Given the description of an element on the screen output the (x, y) to click on. 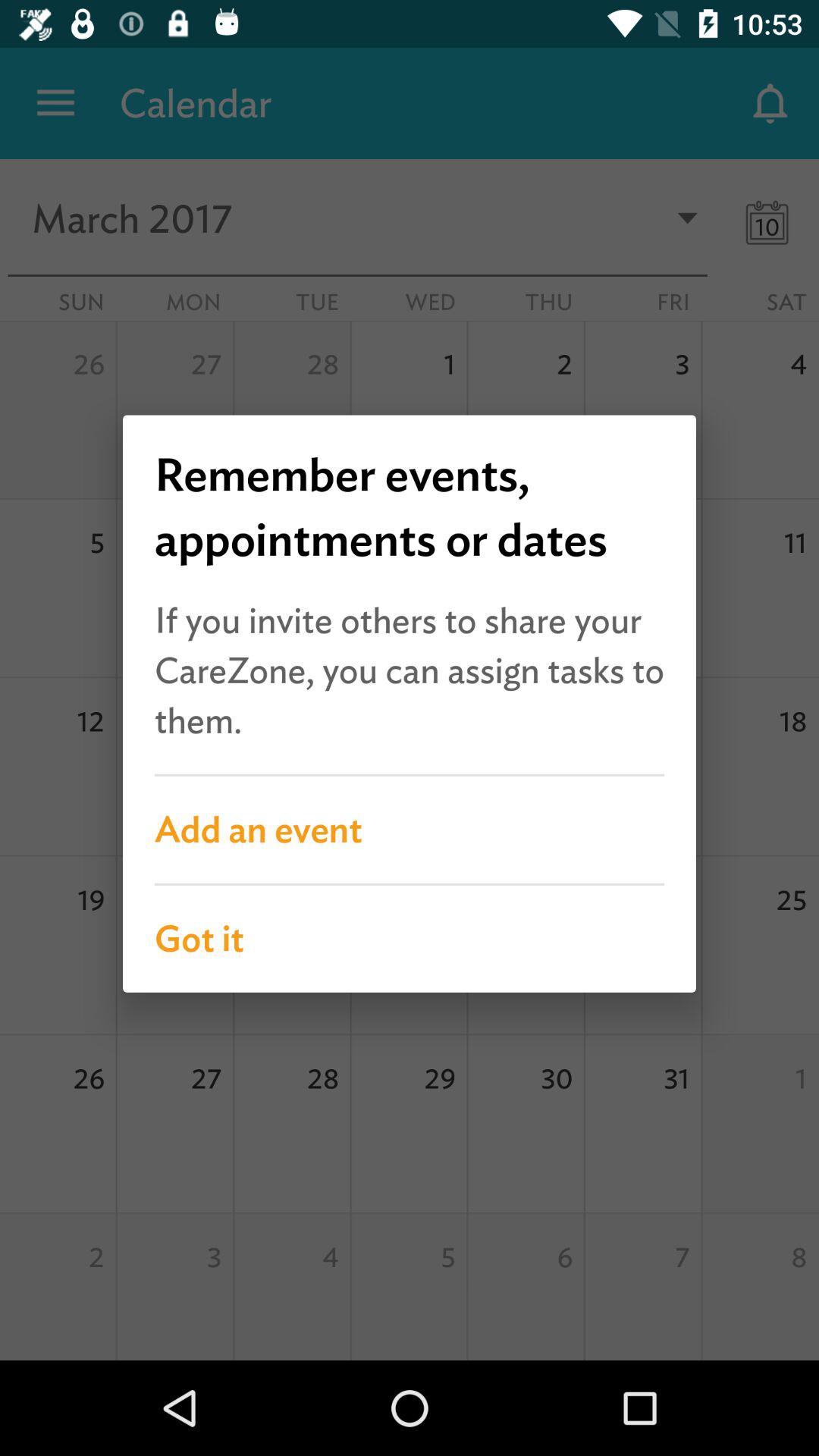
swipe to the got it item (409, 938)
